Given the description of an element on the screen output the (x, y) to click on. 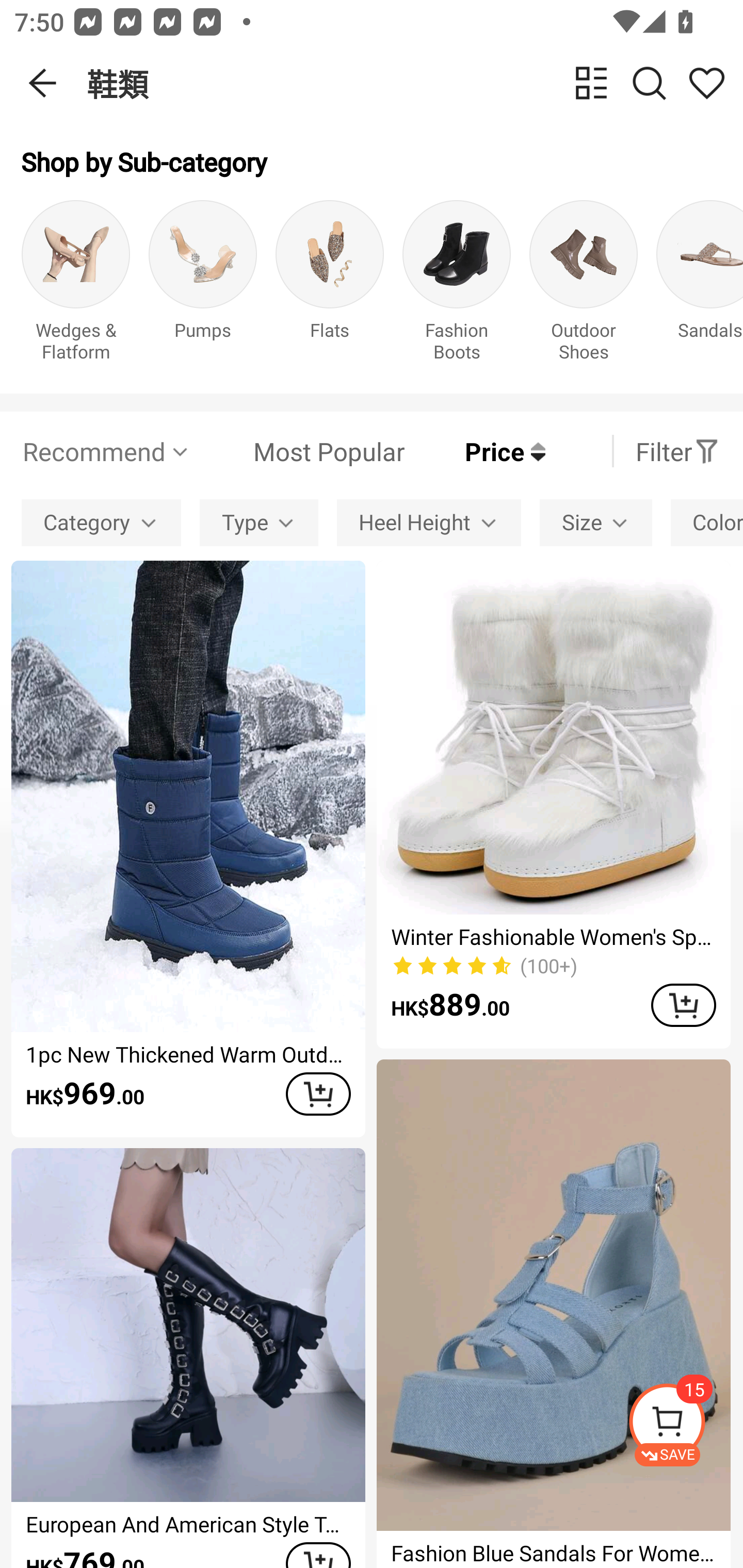
鞋類 change view Search Share (414, 82)
change view (591, 82)
Search (648, 82)
Share (706, 82)
Wedges & Flatform (75, 285)
Pumps (202, 285)
Flats (329, 285)
Fashion Boots (456, 285)
Outdoor Shoes (583, 285)
Sandals (699, 285)
Recommend (106, 450)
Most Popular (297, 450)
Price (474, 450)
Filter (677, 450)
Category (101, 521)
Type (258, 521)
Heel Height (428, 521)
Size (595, 521)
Color (706, 521)
ADD TO CART (683, 1005)
ADD TO CART (318, 1094)
SAVE (685, 1424)
